Given the description of an element on the screen output the (x, y) to click on. 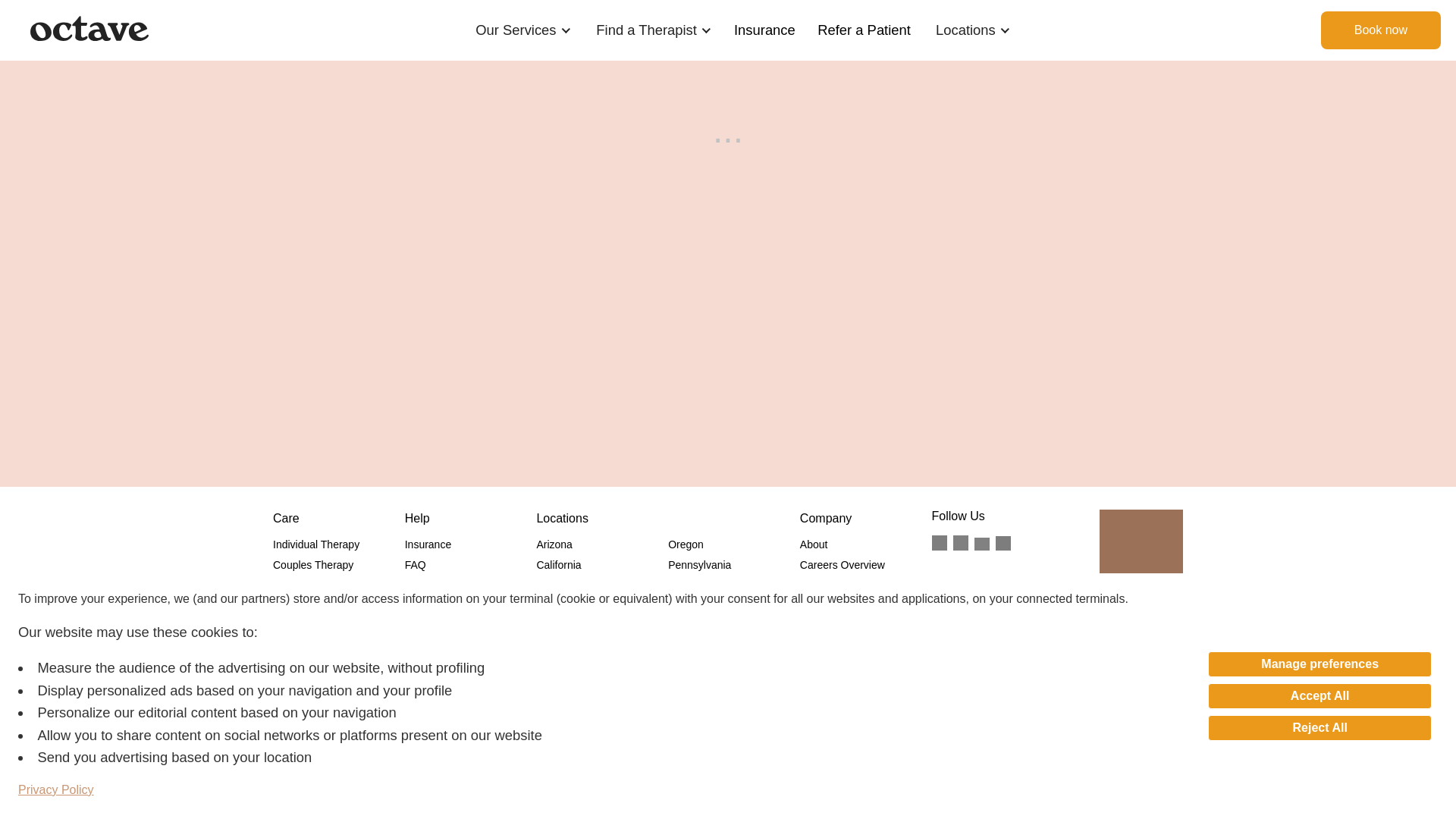
Cookie Preferences (450, 662)
Individual Therapy (316, 544)
New York (557, 687)
Find a Therapist (646, 29)
Reject All (1319, 727)
Insurance (427, 544)
Florida (552, 605)
Couples Therapy (313, 564)
Oregon (685, 544)
Refer a Patient (863, 29)
New Jersey (563, 667)
Maryland (557, 646)
Our Services (515, 29)
Georgia (554, 626)
Arizona (553, 544)
